Given the description of an element on the screen output the (x, y) to click on. 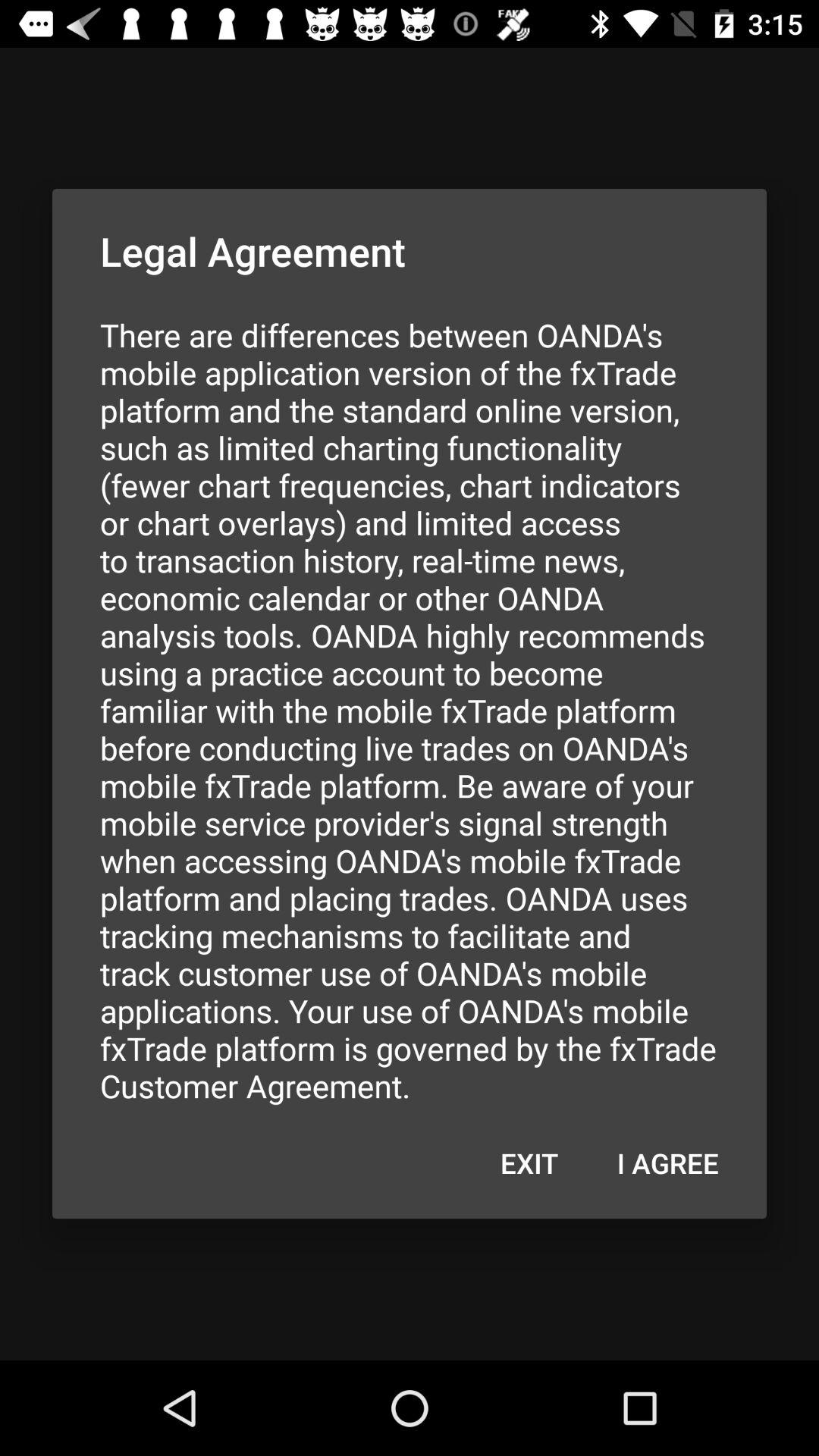
launch item at the bottom (529, 1162)
